Given the description of an element on the screen output the (x, y) to click on. 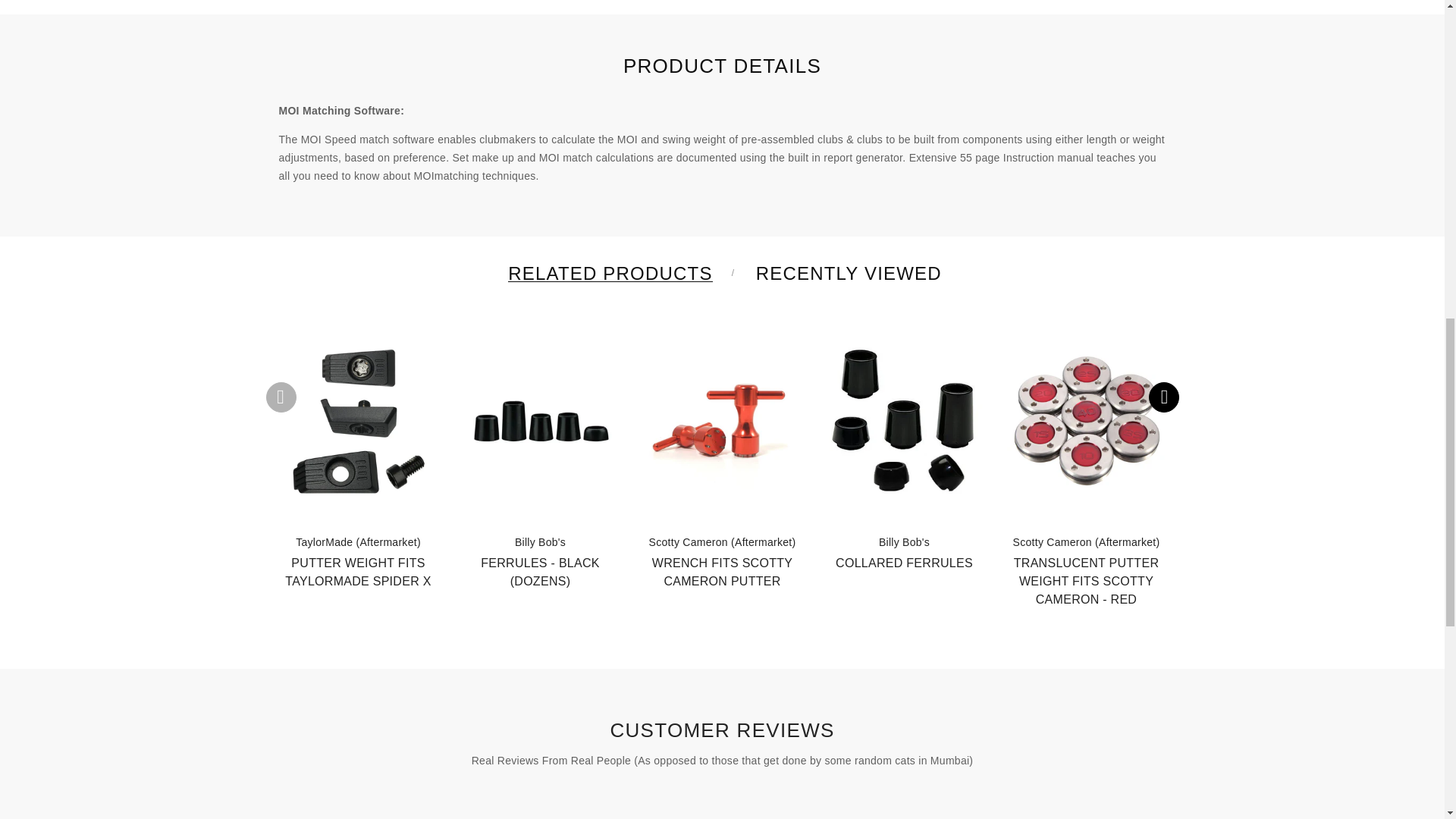
Billy Bob's (540, 541)
